Given the description of an element on the screen output the (x, y) to click on. 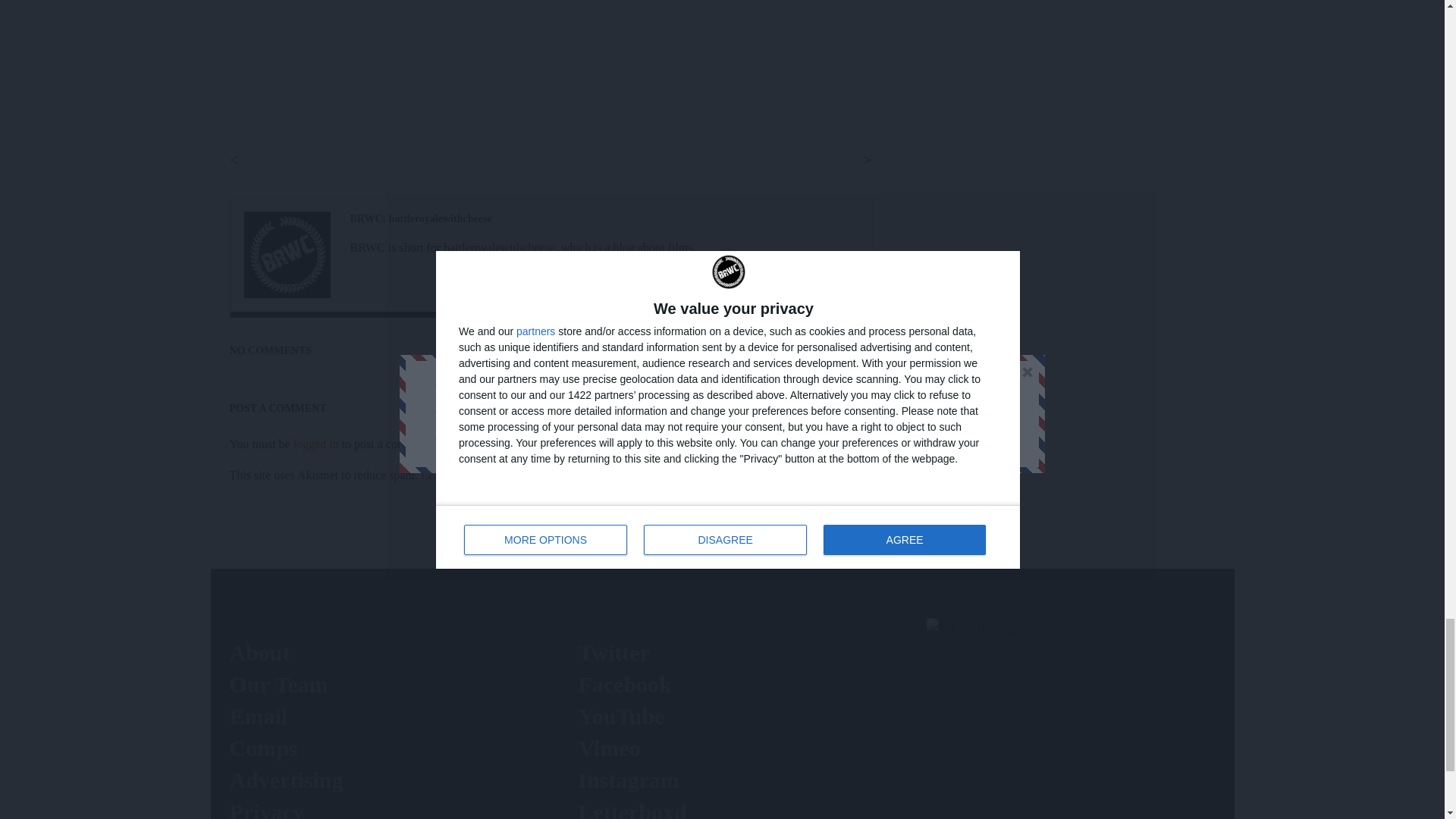
Six Rounds: Review (287, 254)
Six Rounds: Review (421, 218)
